Given the description of an element on the screen output the (x, y) to click on. 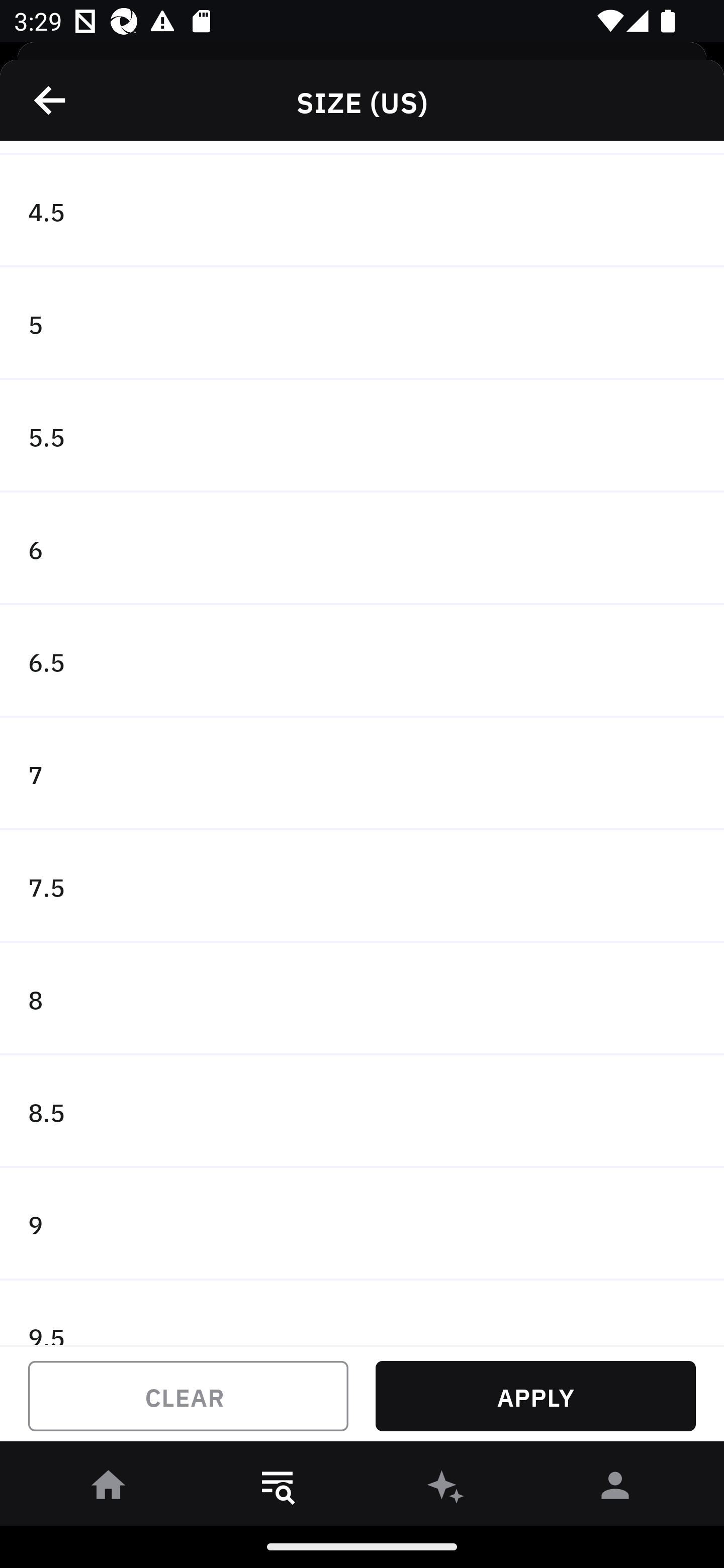
 (50, 100)
4.5 (362, 211)
5 (362, 323)
5.5 (362, 435)
6 (362, 548)
6.5 (362, 661)
7 (362, 773)
7.5 (362, 885)
8 (362, 998)
8.5 (362, 1111)
9 (362, 1224)
CLEAR  (188, 1396)
APPLY (535, 1396)
󰋜 (108, 1488)
󱎸 (277, 1488)
󰫢 (446, 1488)
󰀄 (615, 1488)
